Given the description of an element on the screen output the (x, y) to click on. 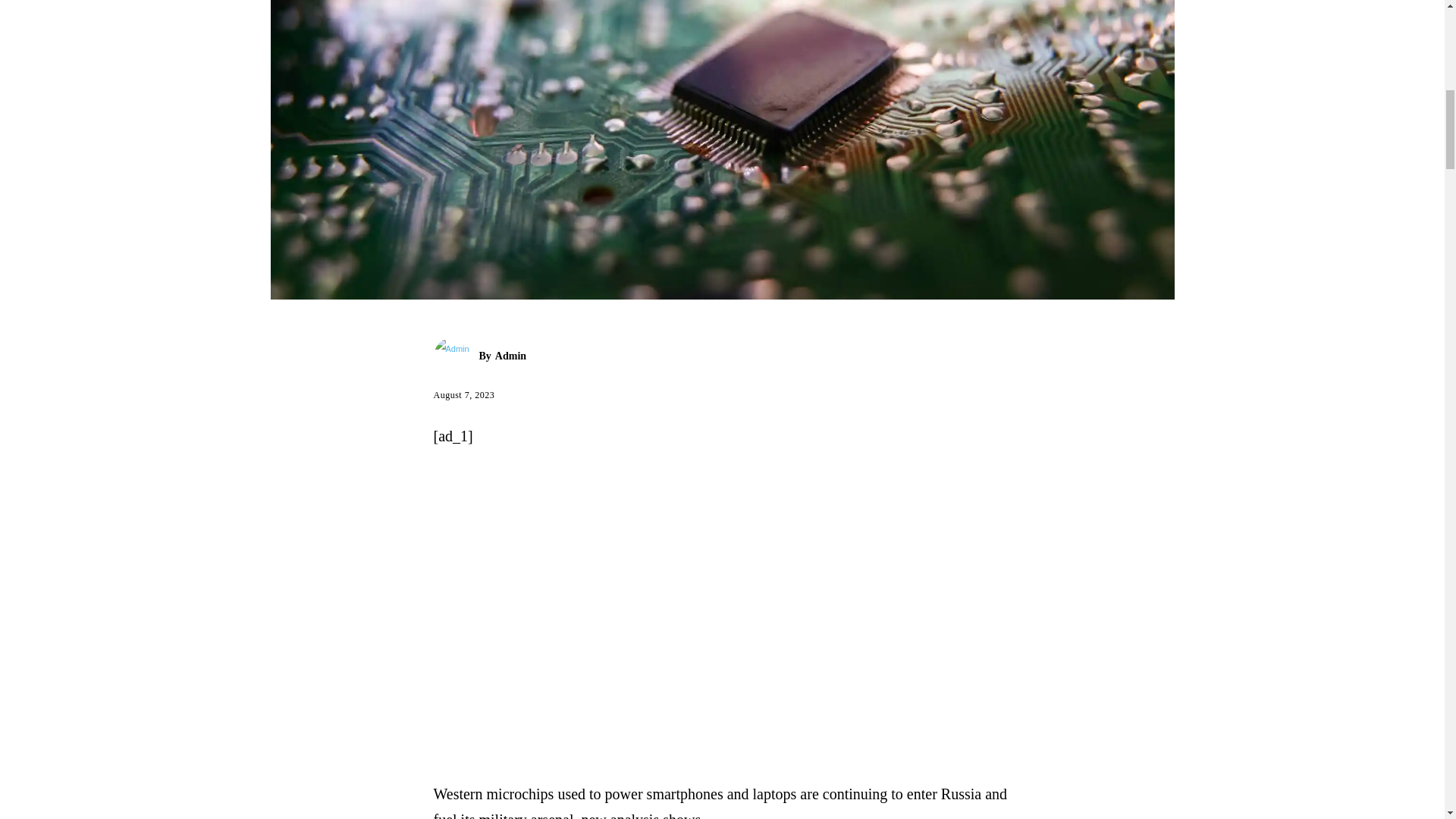
Admin (456, 356)
